Given the description of an element on the screen output the (x, y) to click on. 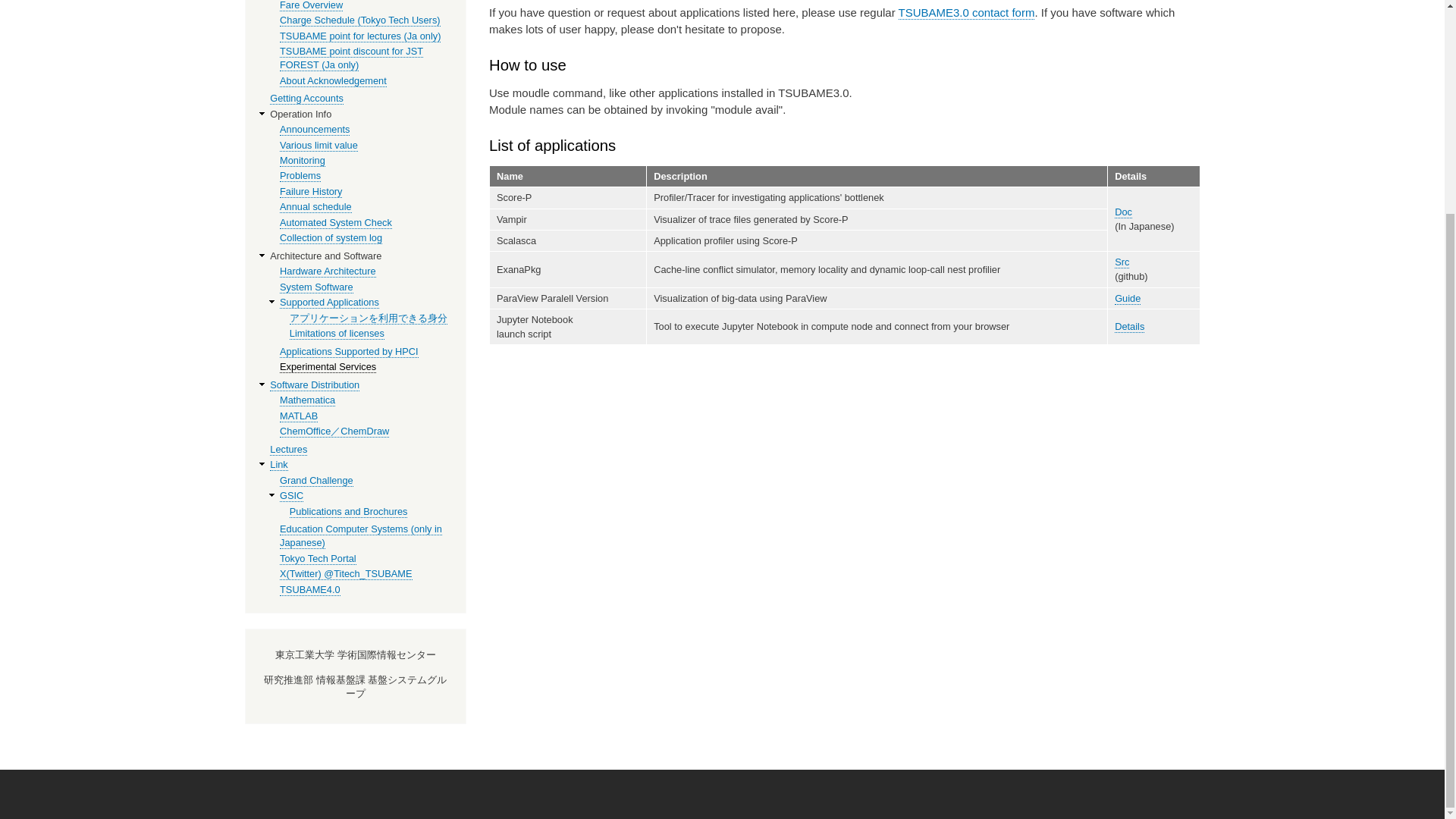
Guide (1127, 298)
Src (1122, 262)
link (277, 464)
About Acknowledgement (333, 80)
System Software (316, 287)
Annual schedule (315, 206)
Details (1129, 326)
Failure History (310, 191)
Announcements (314, 129)
Supported Applications (328, 302)
